Given the description of an element on the screen output the (x, y) to click on. 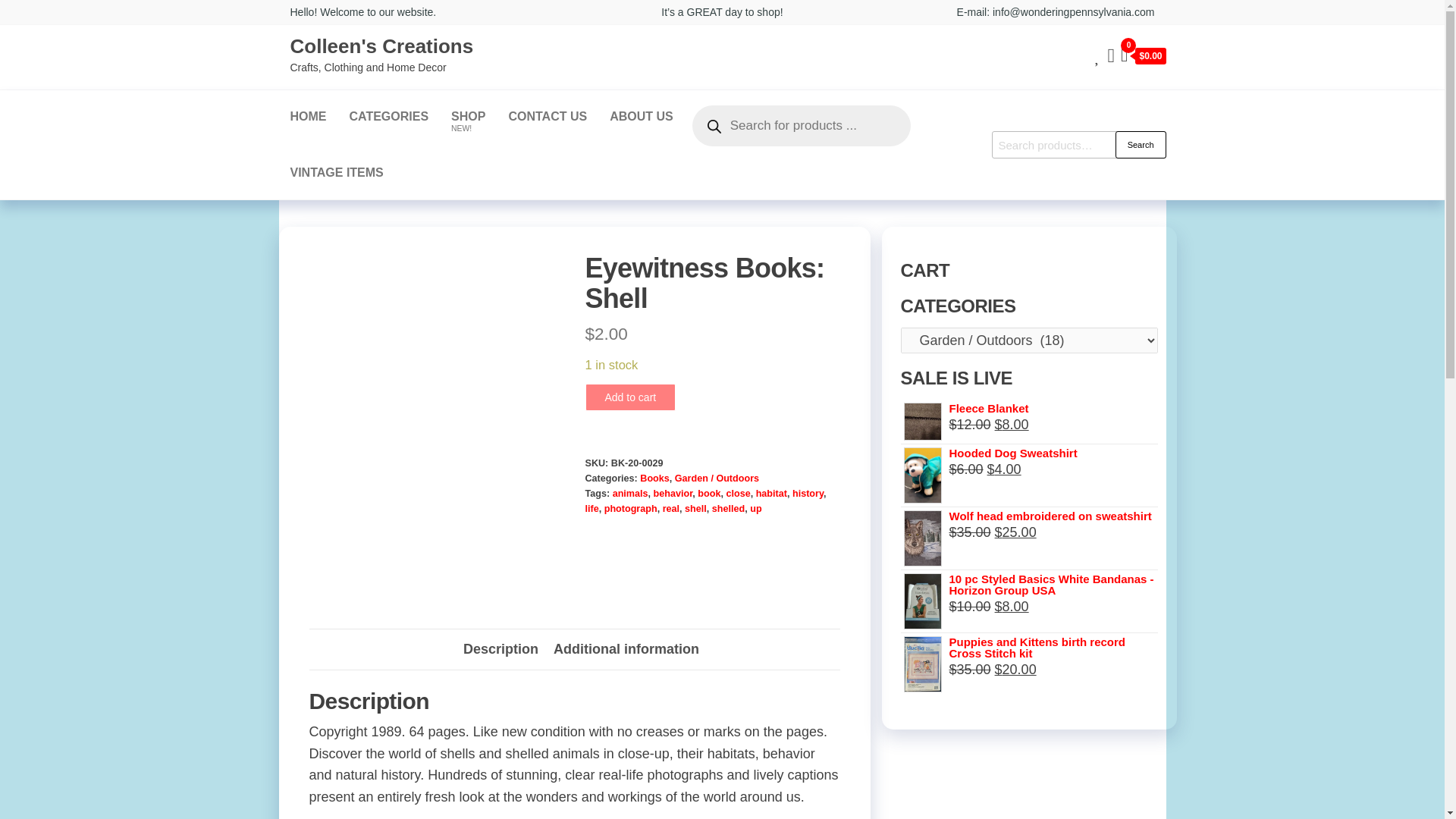
My Account (1110, 55)
Vintage Items (336, 172)
CONTACT US (547, 116)
behavior (673, 493)
Shop (467, 116)
book (708, 493)
Colleen's Creations (381, 46)
Search (1140, 144)
Home (308, 116)
photograph (631, 508)
Categories (389, 116)
real (670, 508)
Cart (1143, 56)
Additional information (625, 649)
HOME (308, 116)
